Given the description of an element on the screen output the (x, y) to click on. 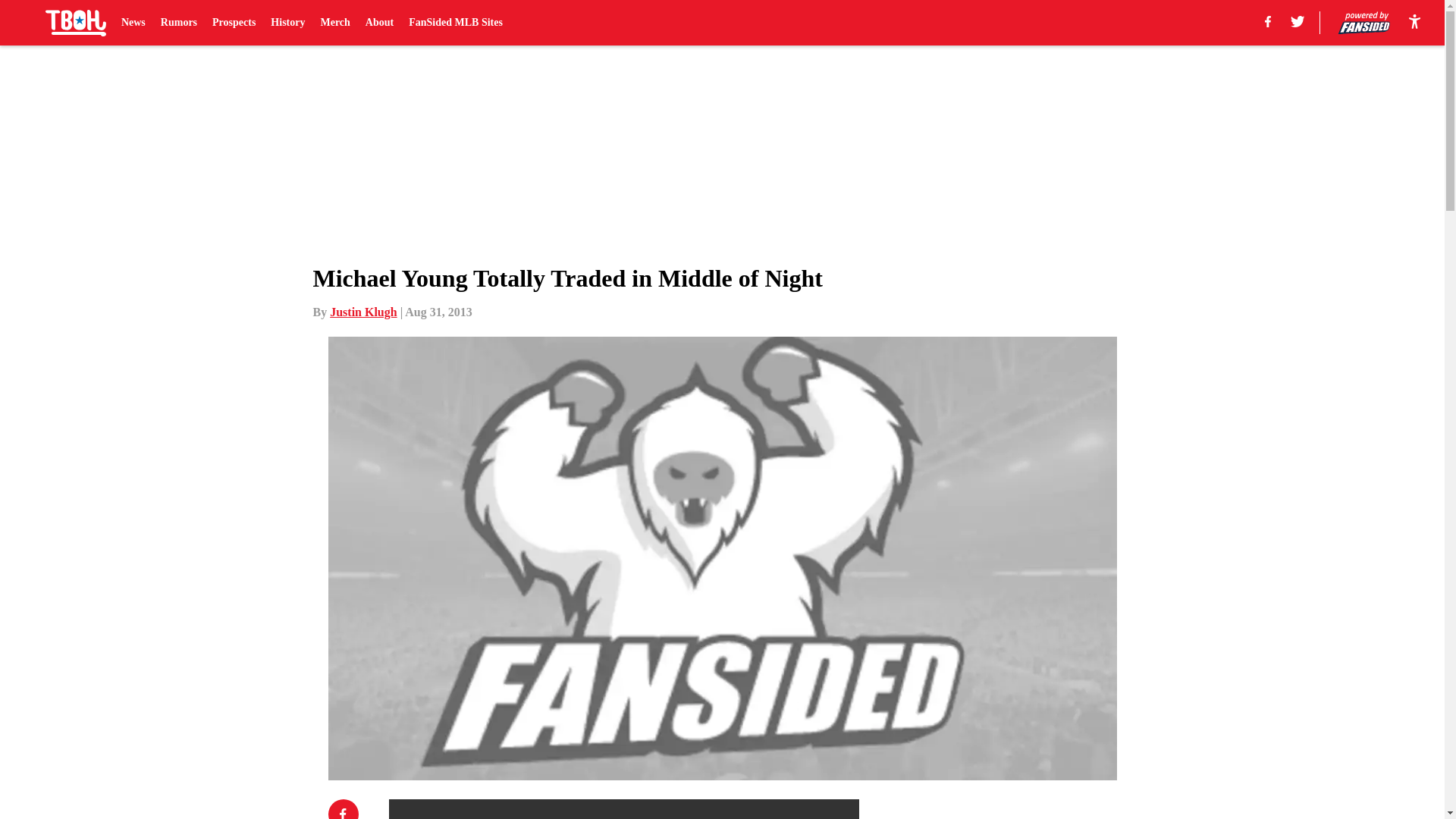
3rd party ad content (1047, 809)
News (132, 22)
Merch (334, 22)
About (379, 22)
Justin Klugh (363, 311)
History (287, 22)
Rumors (178, 22)
Prospects (234, 22)
FanSided MLB Sites (455, 22)
